Given the description of an element on the screen output the (x, y) to click on. 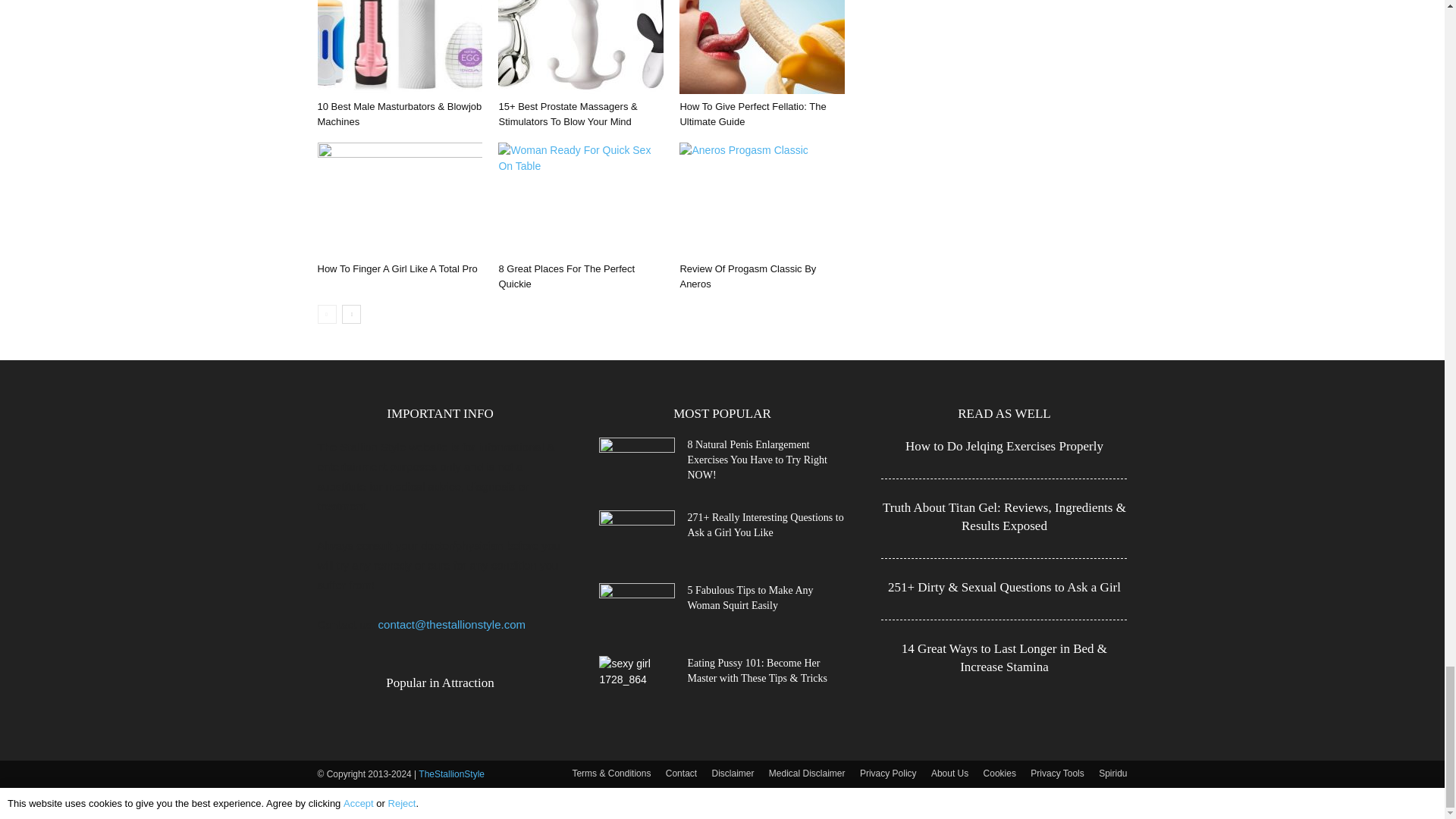
How to Give Perfect Fellatio: The Ultimate Guide (752, 113)
How to Give Perfect Fellatio: The Ultimate Guide (761, 47)
How to Finger a Girl Like a Total Pro (397, 268)
How to Finger a Girl Like a Total Pro (399, 199)
